Given the description of an element on the screen output the (x, y) to click on. 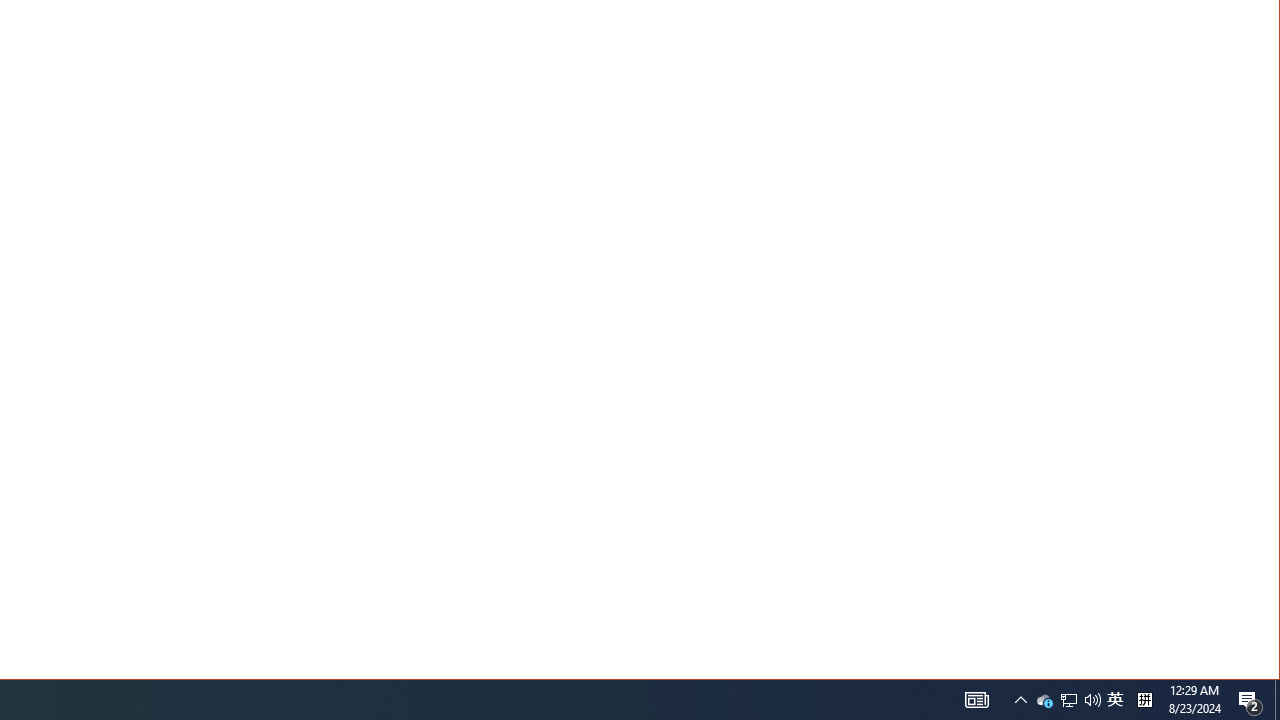
Action Center, 2 new notifications (1250, 699)
